Given the description of an element on the screen output the (x, y) to click on. 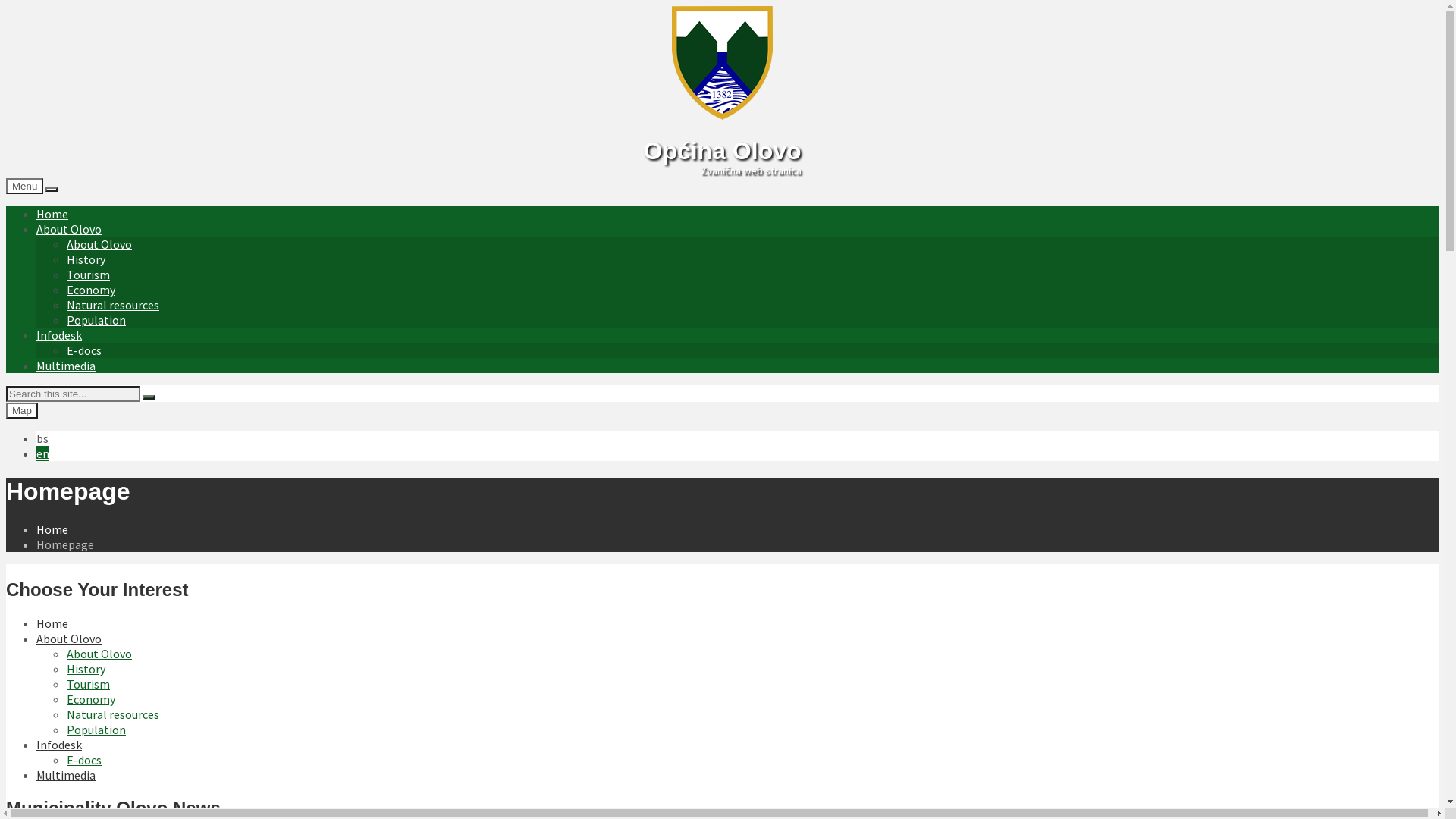
Economy Element type: text (90, 289)
About Olovo Element type: text (68, 638)
About Olovo Element type: text (98, 653)
Population Element type: text (95, 319)
Show on Map Element type: hover (51, 189)
Municipality Olovo News Element type: text (113, 807)
About Olovo Element type: text (98, 243)
Multimedia Element type: text (65, 365)
Tourism Element type: text (87, 274)
Infodesk Element type: text (58, 744)
E-docs Element type: text (83, 759)
E-docs Element type: text (83, 349)
bs Element type: text (42, 437)
Natural resources Element type: text (112, 713)
Menu Element type: text (24, 186)
History Element type: text (85, 258)
Home Element type: text (52, 528)
History Element type: text (85, 668)
Home Element type: text (52, 213)
Infodesk Element type: text (58, 334)
Tourism Element type: text (87, 683)
Population Element type: text (95, 729)
Multimedia Element type: text (65, 774)
Map Element type: text (21, 410)
About Olovo Element type: text (68, 228)
Home Element type: text (52, 622)
en Element type: text (42, 453)
Economy Element type: text (90, 698)
Natural resources Element type: text (112, 304)
